Given the description of an element on the screen output the (x, y) to click on. 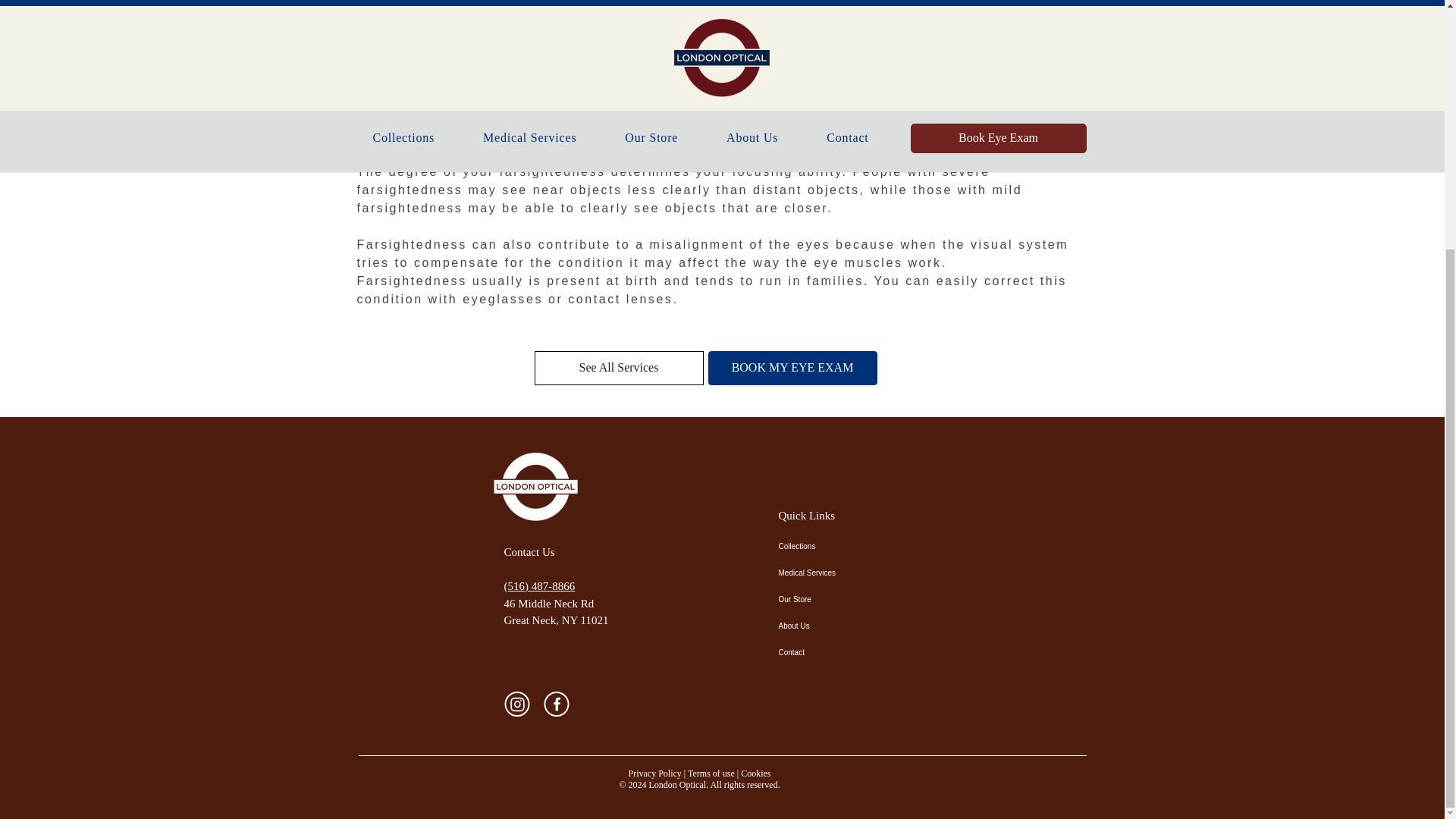
Medical Services (831, 571)
Collections (831, 546)
About Us (831, 624)
BOOK MY EYE EXAM (792, 367)
Our Store (831, 599)
Contact (831, 652)
See All Services (618, 367)
